Given the description of an element on the screen output the (x, y) to click on. 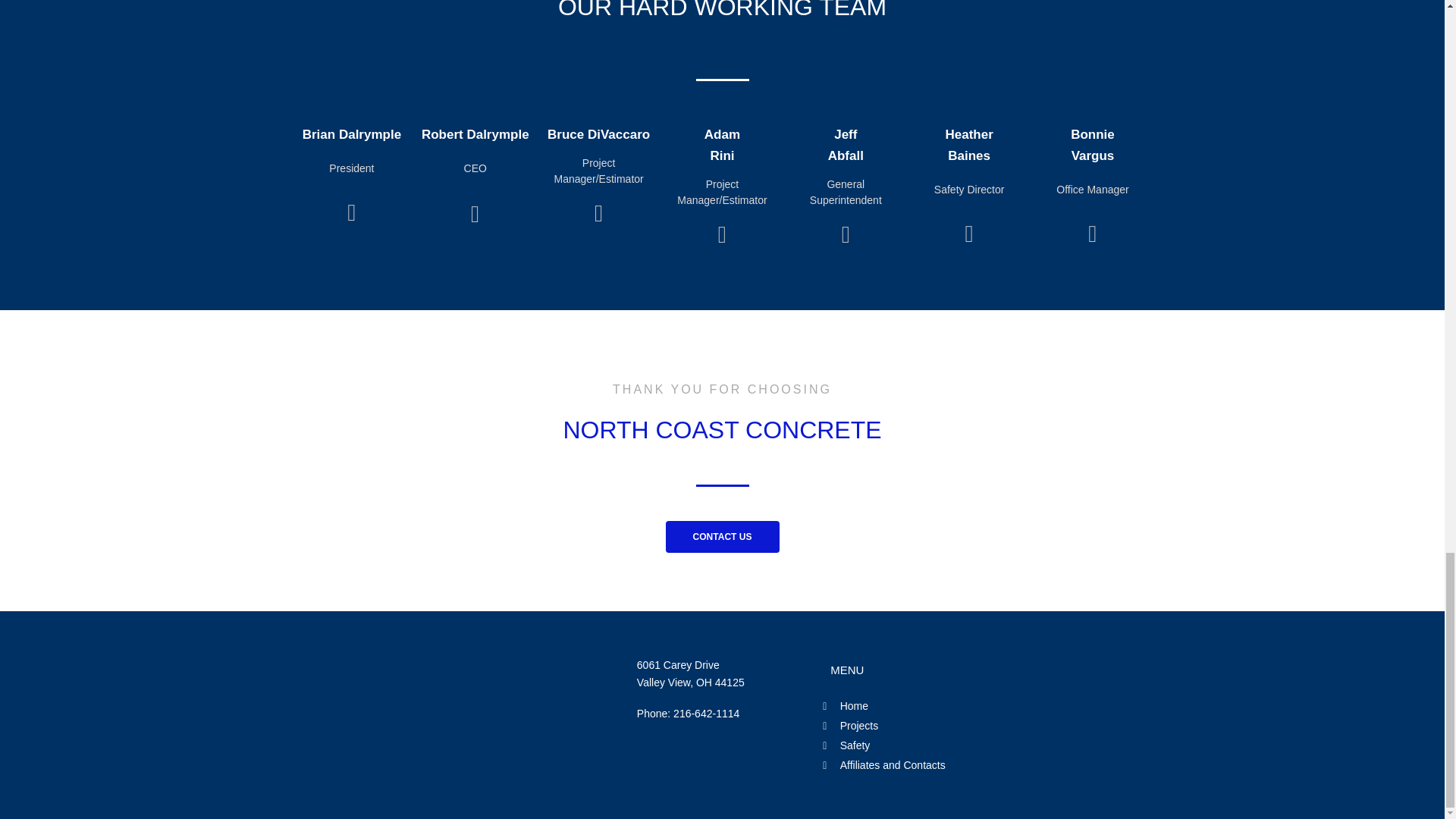
Valley View, OH 44125 (690, 682)
CONTACT US (721, 536)
Home (907, 706)
Affiliates and Contacts (907, 765)
6061 Carey Drive (678, 664)
216-642-1114 (705, 713)
Projects (907, 725)
Safety (907, 745)
